Given the description of an element on the screen output the (x, y) to click on. 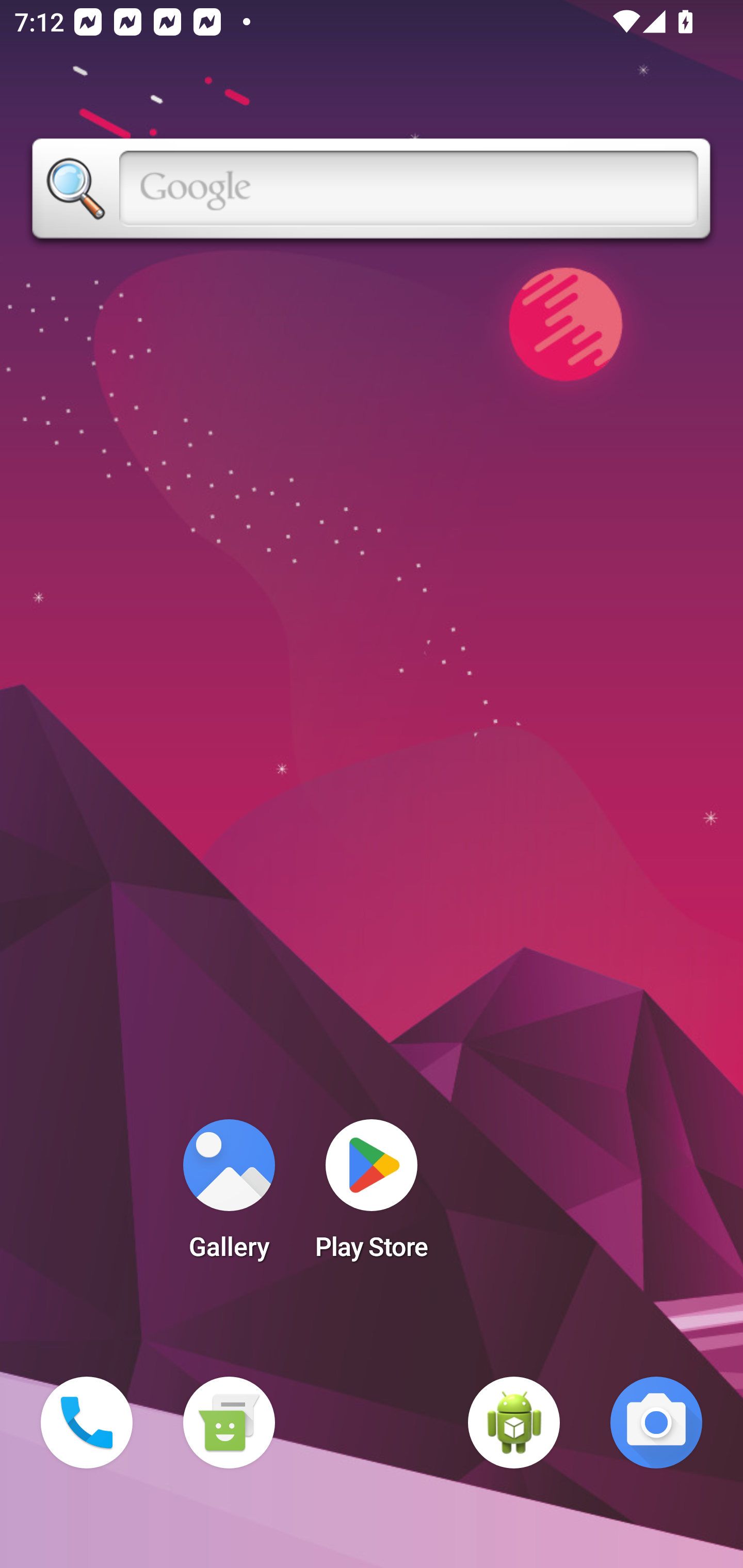
Gallery (228, 1195)
Play Store (371, 1195)
Phone (86, 1422)
Messaging (228, 1422)
WebView Browser Tester (513, 1422)
Camera (656, 1422)
